Given the description of an element on the screen output the (x, y) to click on. 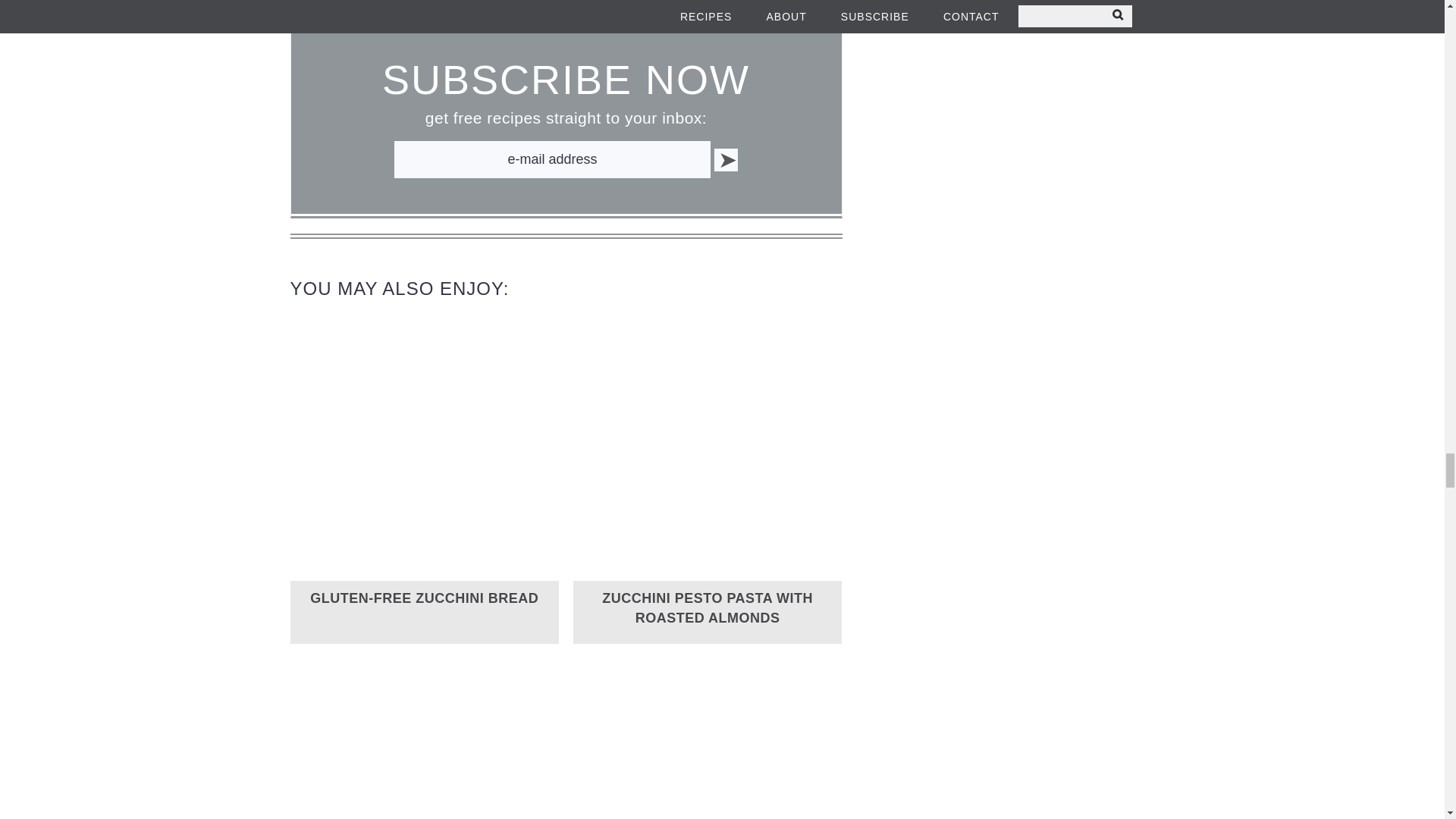
Permanent Link to Gluten-Free Zucchini Bread (424, 575)
Permanent Link to Gluten-Free Zucchini Bread (424, 598)
Permanent Link to Zucchini Pesto Pasta with Roasted Almonds (708, 575)
Permanent Link to Zucchini Pesto Pasta with Roasted Almonds (707, 607)
